Given the description of an element on the screen output the (x, y) to click on. 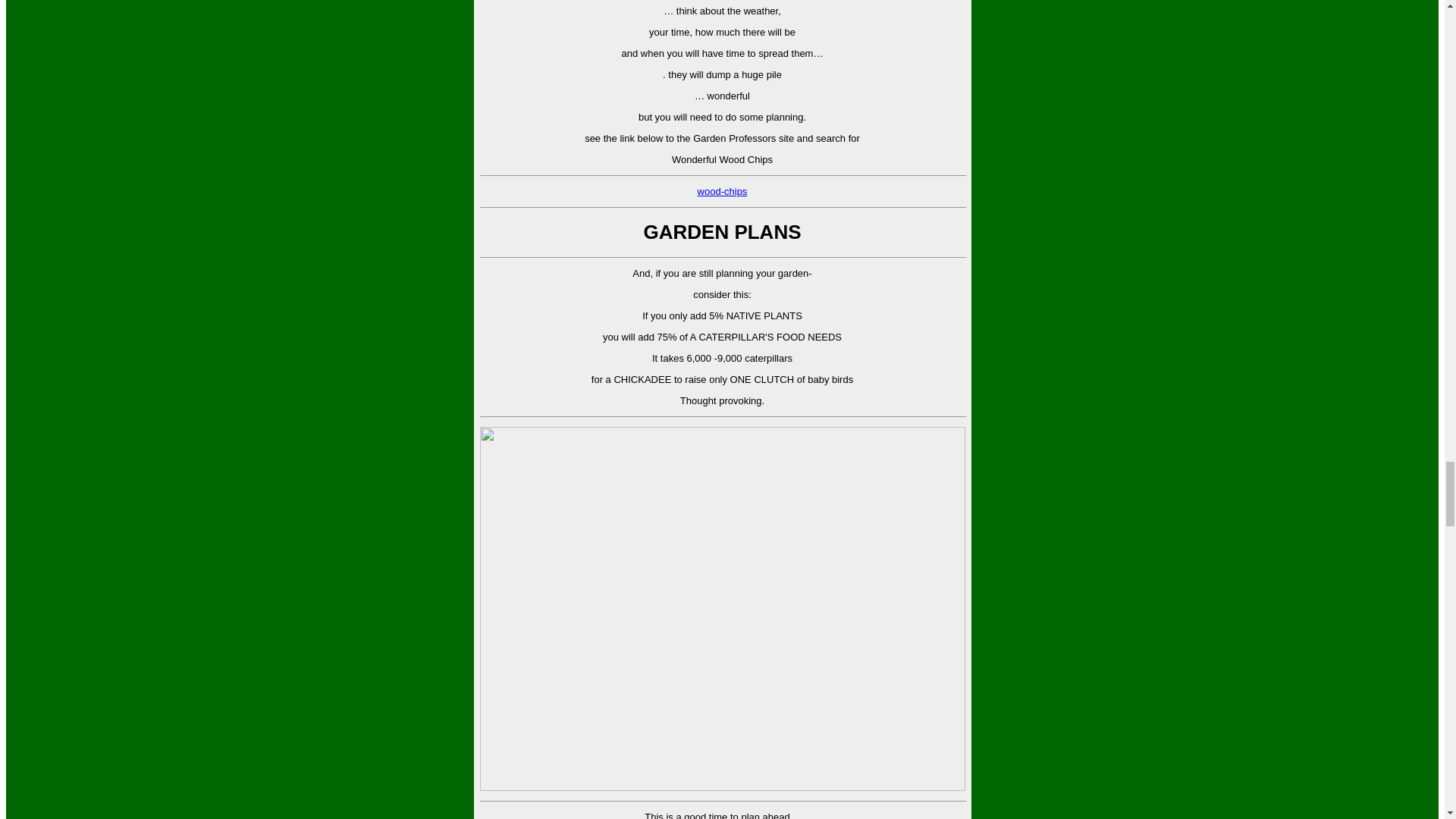
wood-chips (722, 190)
